Given the description of an element on the screen output the (x, y) to click on. 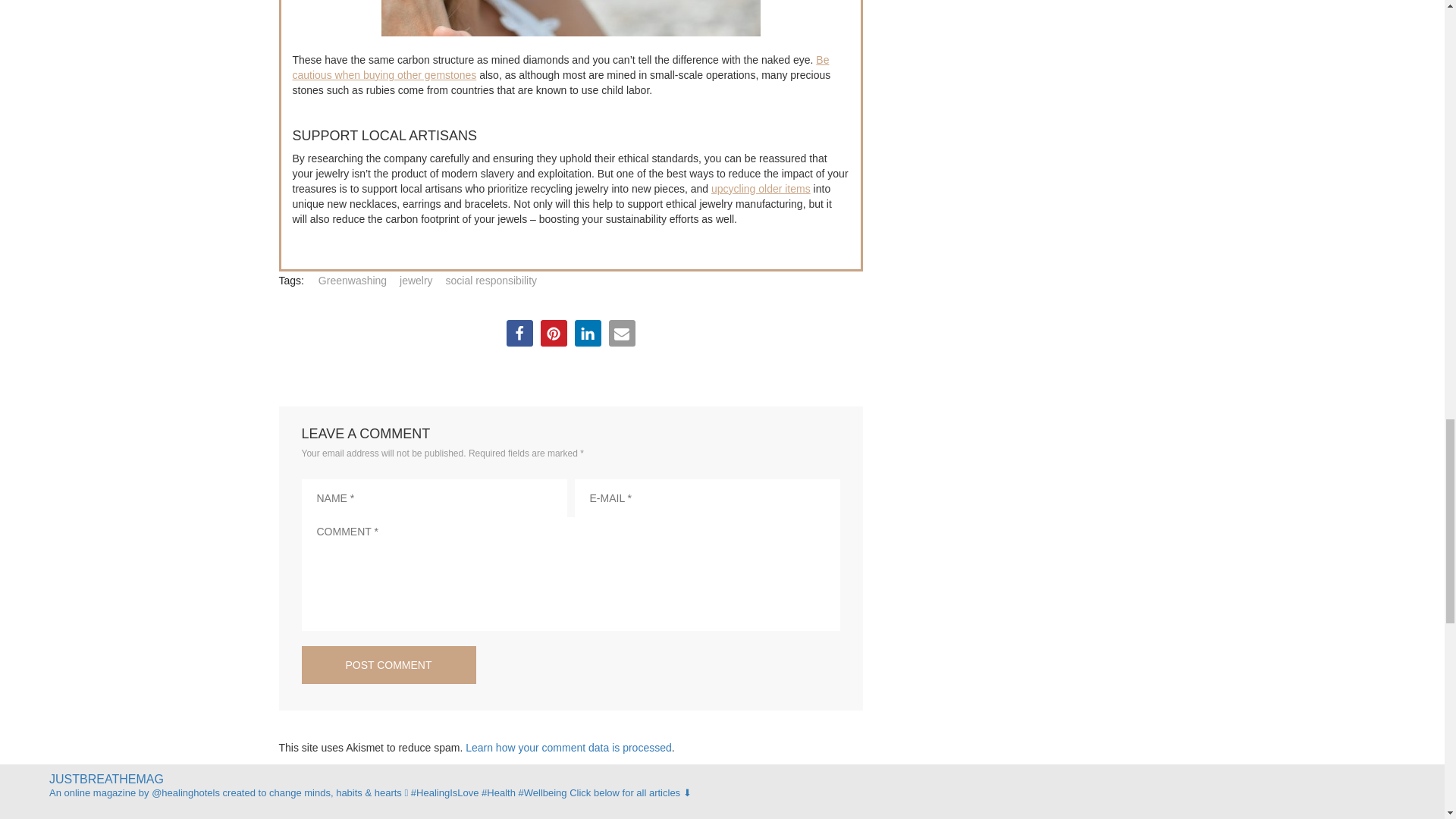
Send by email (621, 333)
Share on Facebook (519, 333)
Post comment (388, 664)
Pin it on Pinterest (553, 333)
Share on LinkedIn (588, 333)
